Given the description of an element on the screen output the (x, y) to click on. 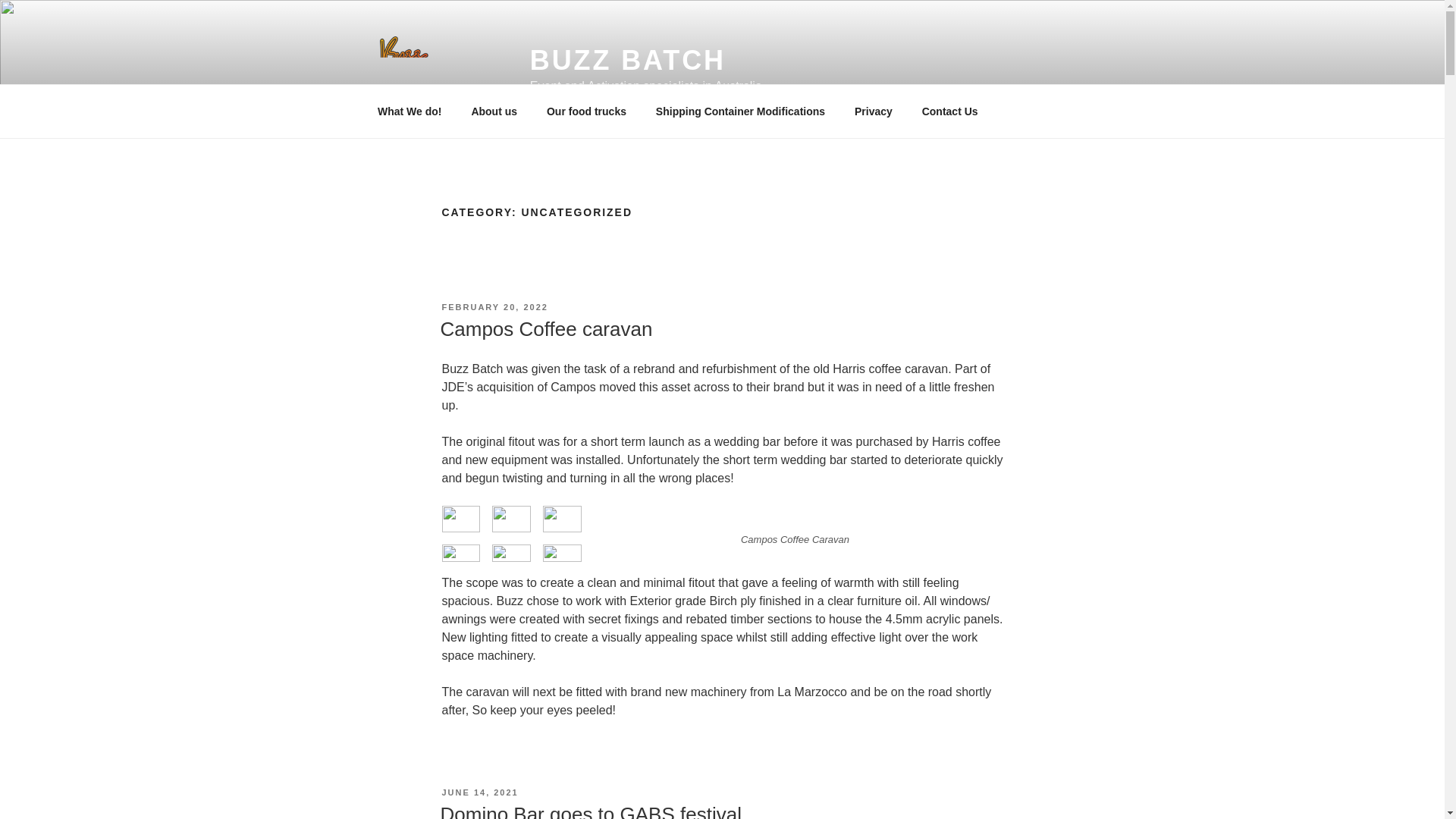
FEBRUARY 20, 2022 (494, 307)
Shipping Container Modifications (740, 110)
Privacy (873, 110)
Campos Coffee caravan (545, 328)
JUNE 14, 2021 (479, 791)
Domino Bar goes to GABS festival (590, 811)
Contact Us (949, 110)
Our food trucks (585, 110)
About us (494, 110)
What We do! (409, 110)
BUZZ BATCH (627, 60)
